Given the description of an element on the screen output the (x, y) to click on. 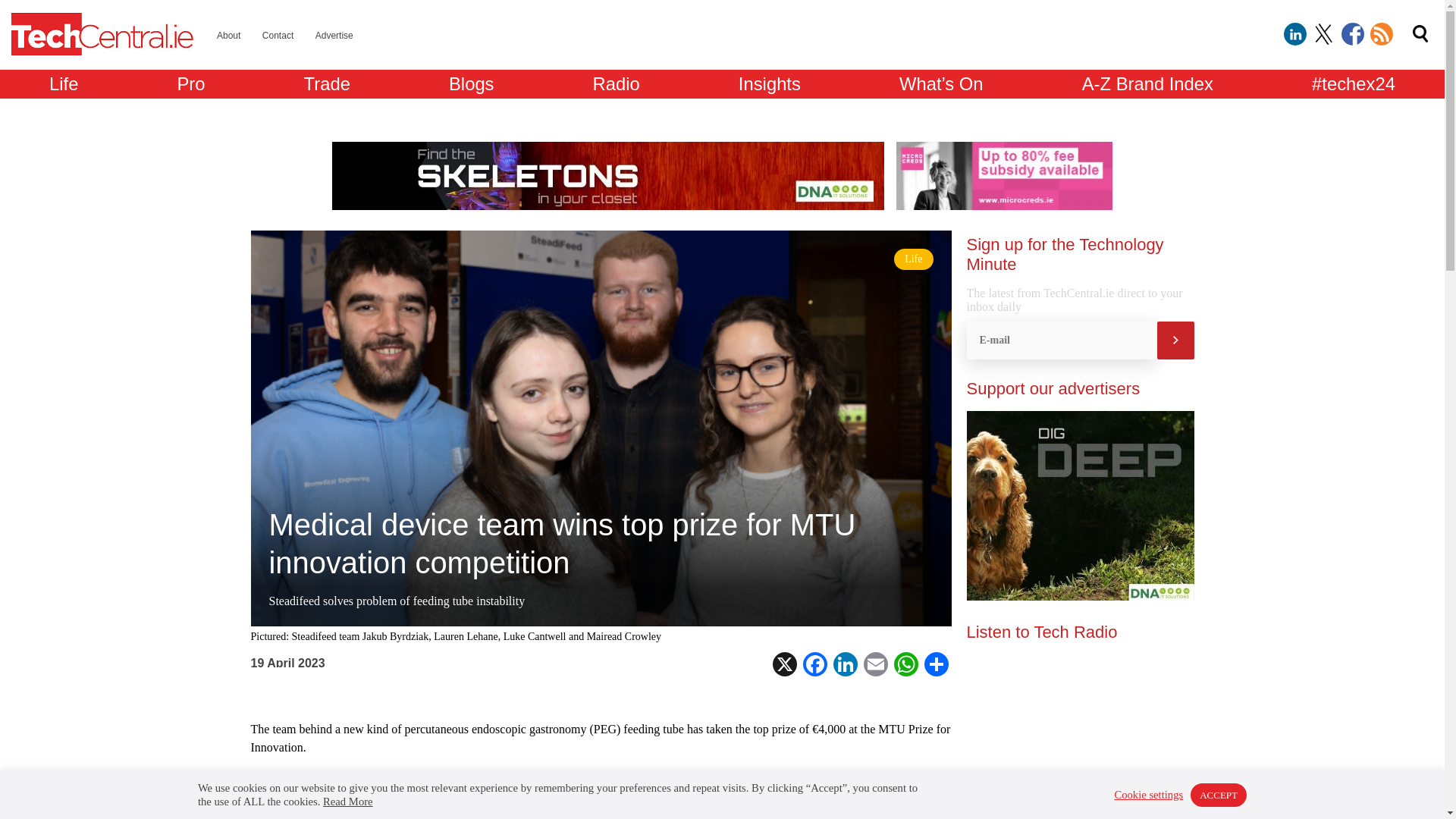
Advertise (334, 35)
Subscribe to Feed (1381, 33)
Facebook (814, 663)
Blogs (471, 83)
Radio (616, 83)
About (228, 35)
Follow on LinkedIn (1295, 33)
Life (64, 83)
Trade (327, 83)
TechLife (64, 83)
Submit (1175, 340)
Follow on Twitter (1324, 33)
LinkedIn (844, 663)
Pro (190, 83)
X (783, 663)
